Given the description of an element on the screen output the (x, y) to click on. 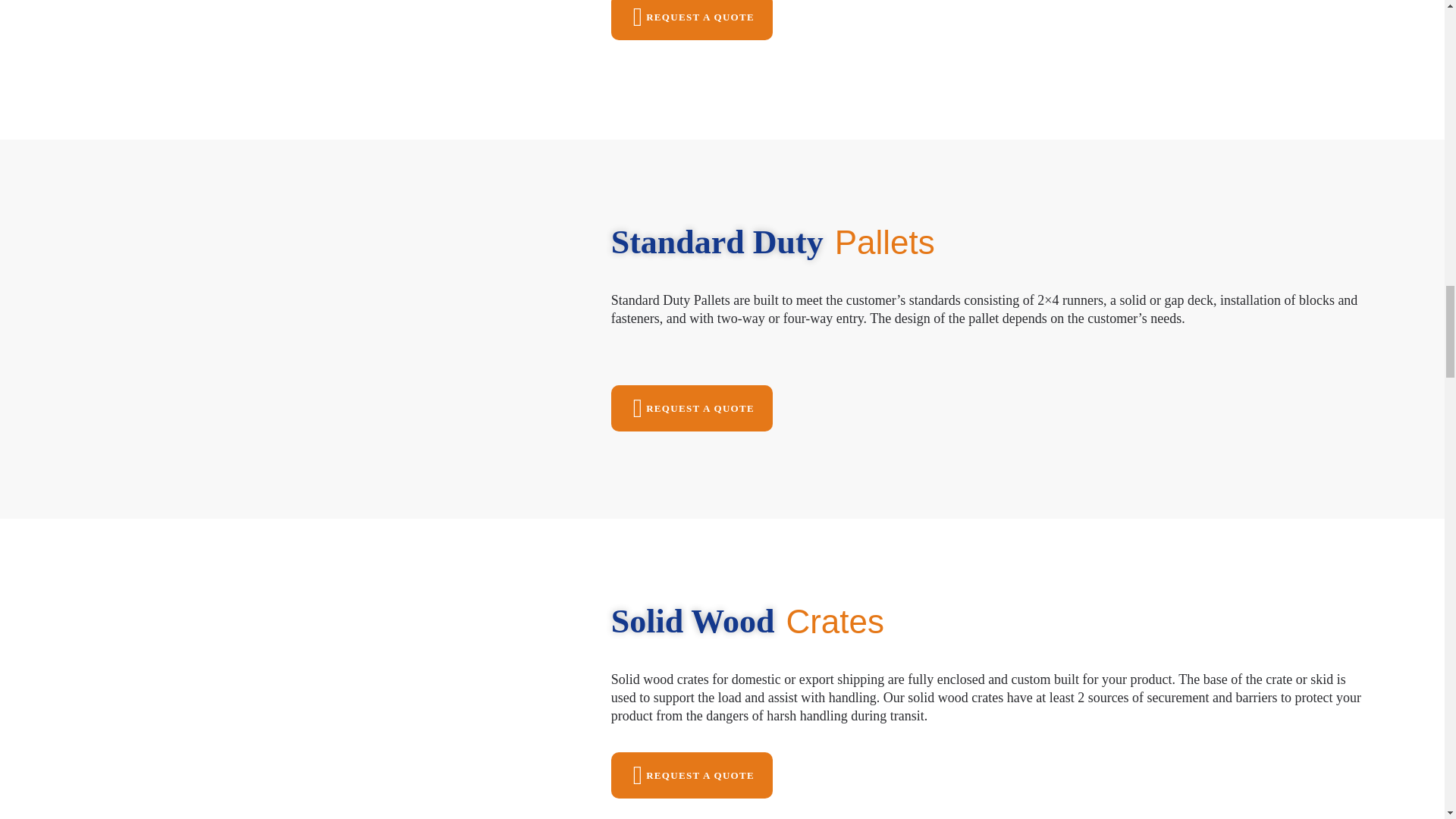
REQUEST A QUOTE (692, 775)
REQUEST A QUOTE (692, 407)
REQUEST A QUOTE (692, 20)
